Given the description of an element on the screen output the (x, y) to click on. 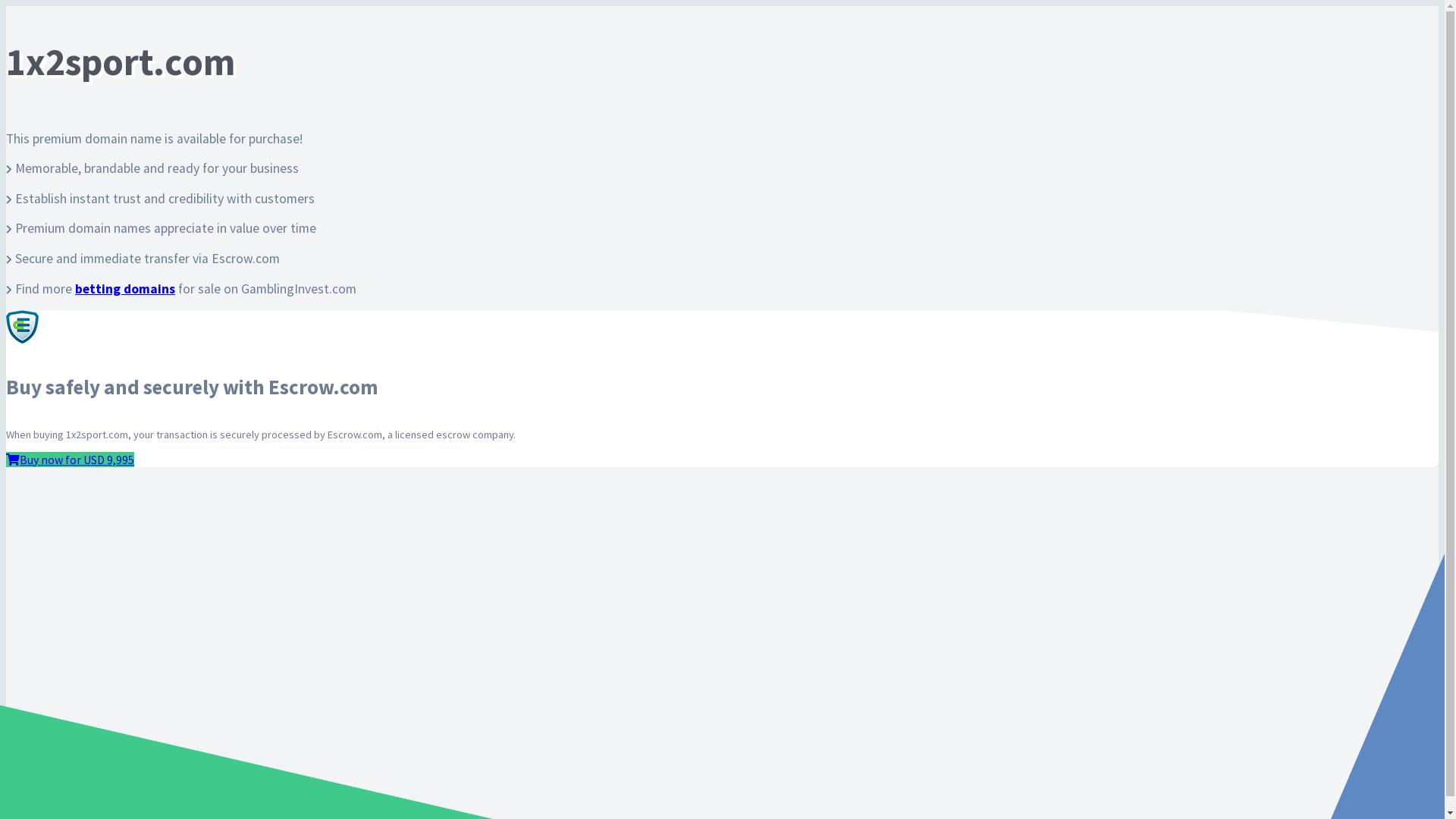
betting domains Element type: text (125, 288)
Buy now for USD 9,995 Element type: text (70, 459)
